Given the description of an element on the screen output the (x, y) to click on. 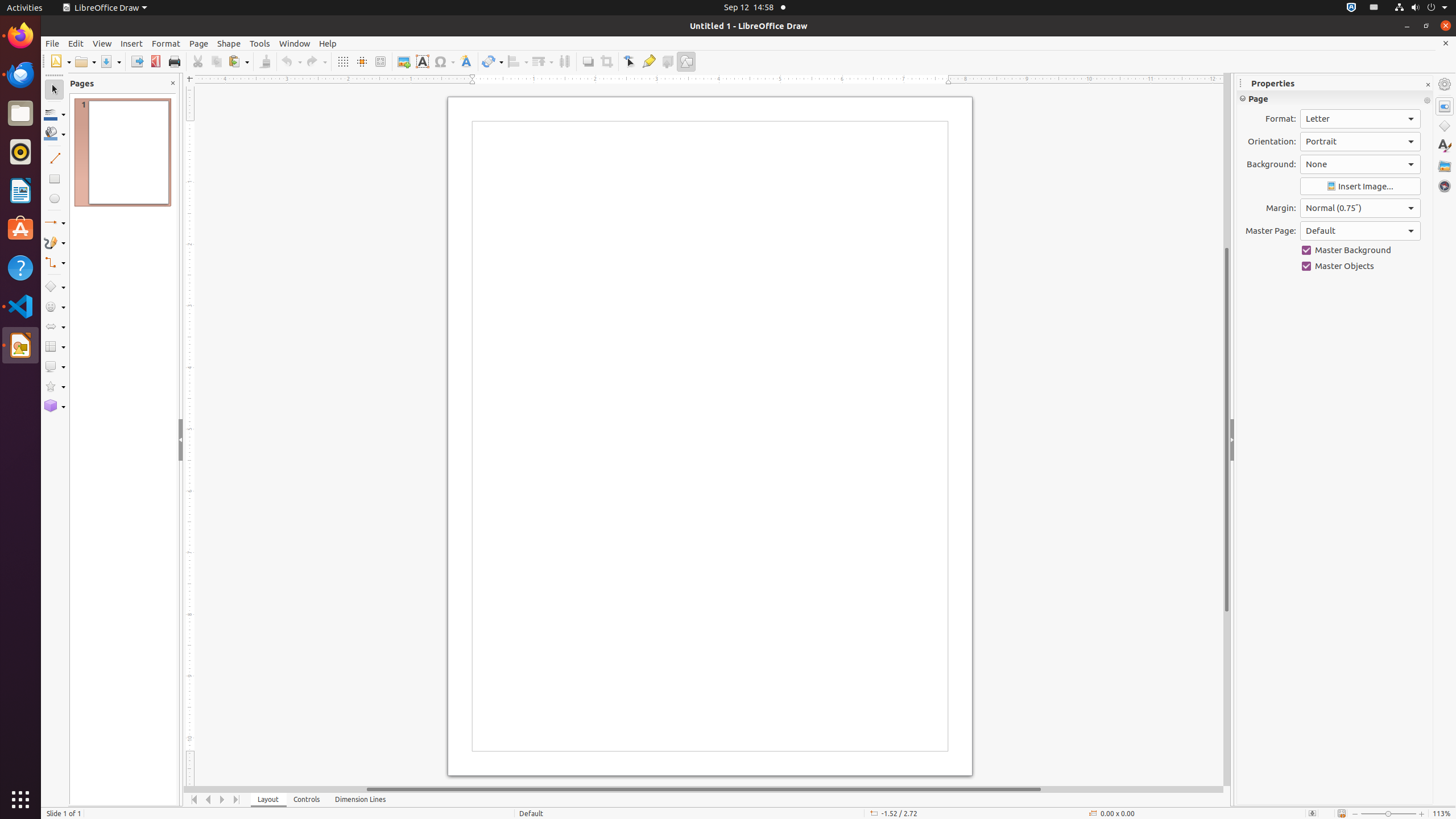
Format: Element type: combo-box (1360, 118)
Shadow Element type: toggle-button (587, 61)
Dimension Lines Element type: page-tab (360, 799)
Arrow Shapes Element type: push-button (54, 326)
Close Pane Element type: push-button (172, 82)
